Given the description of an element on the screen output the (x, y) to click on. 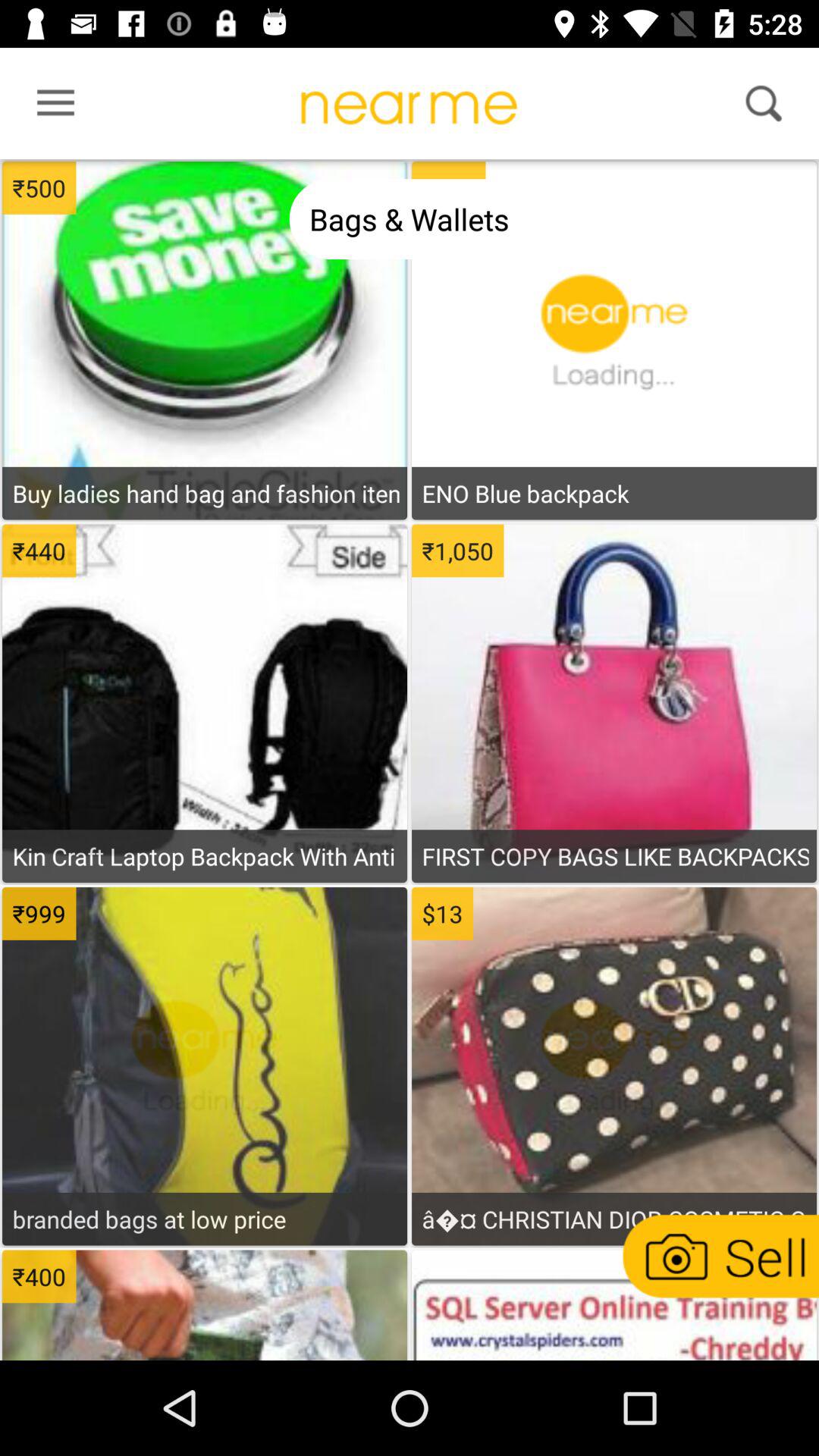
click on advertisement (205, 1307)
